Given the description of an element on the screen output the (x, y) to click on. 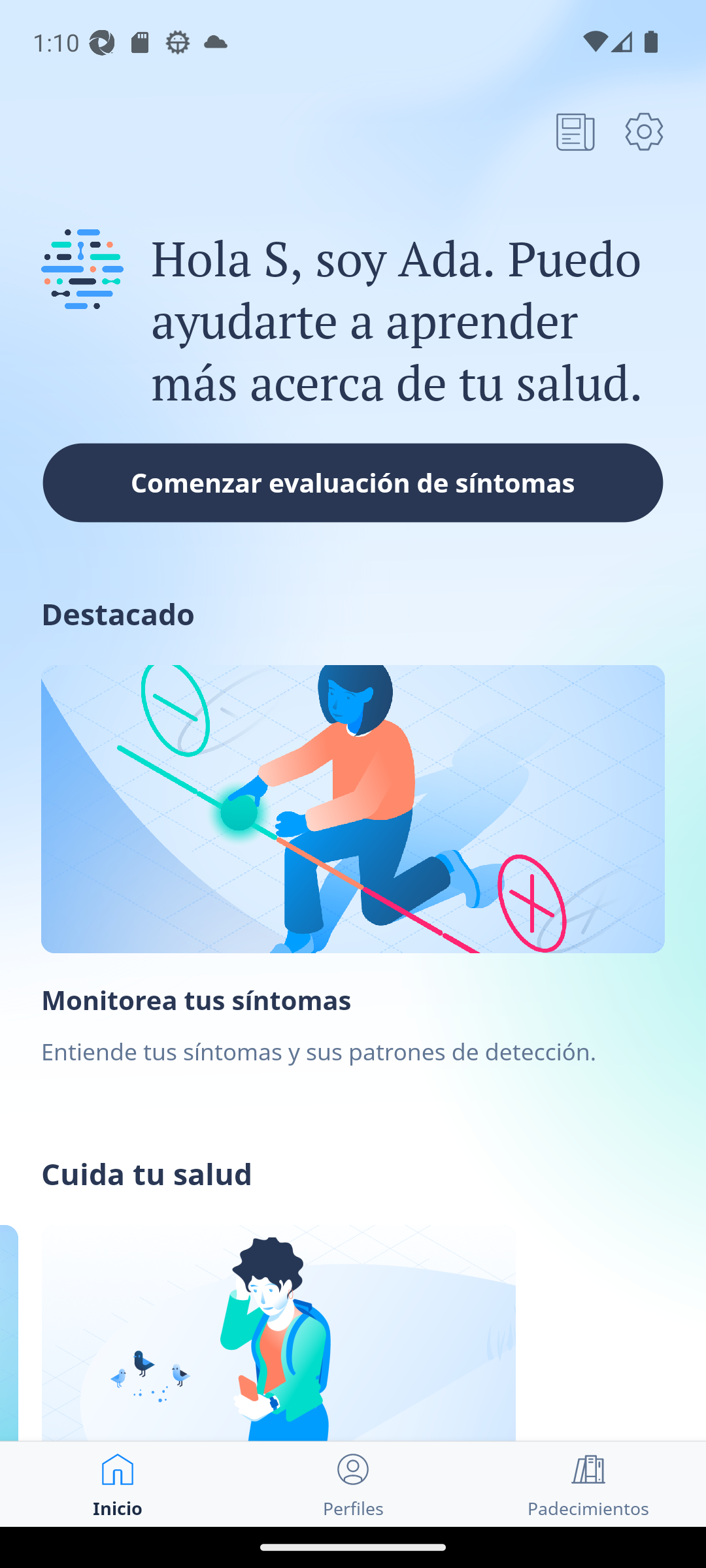
article icon , open articles (574, 131)
settings icon, open settings (644, 131)
Comenzar evaluación de síntomas (352, 482)
Inicio (117, 1484)
Perfiles (352, 1484)
Padecimientos (588, 1484)
